Given the description of an element on the screen output the (x, y) to click on. 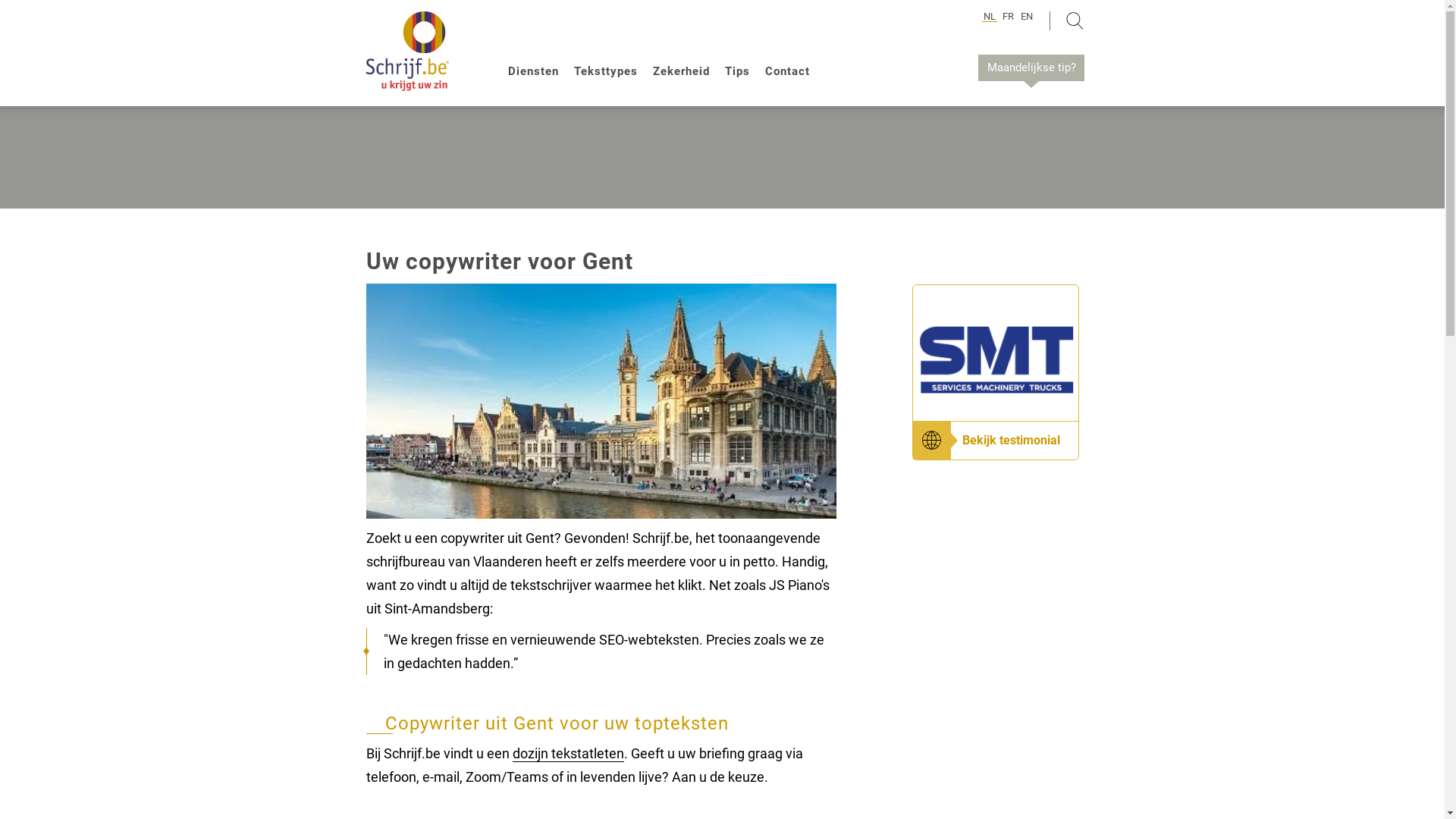
Contact Element type: text (787, 71)
Abonneer u Element type: text (958, 220)
Tips Element type: text (737, 71)
Teksttypes Element type: text (605, 71)
Diensten Element type: text (533, 71)
EN Element type: text (1026, 16)
FR Element type: text (1008, 16)
Bekijk testimonial Element type: text (1010, 440)
NL Element type: text (989, 16)
Zekerheid Element type: text (681, 71)
dozijn tekstatleten Element type: text (568, 753)
